Given the description of an element on the screen output the (x, y) to click on. 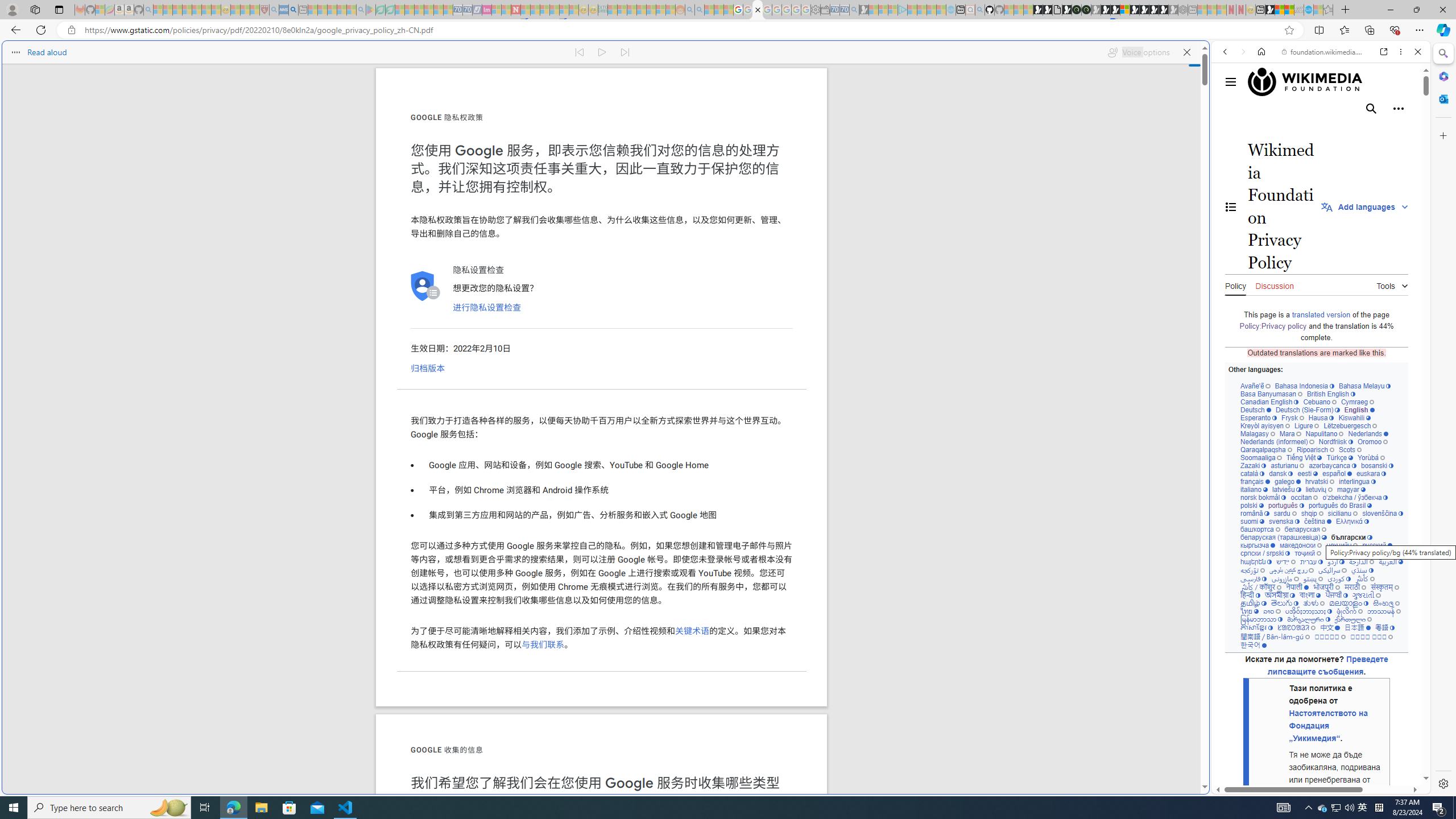
Bahasa Melayu (1364, 385)
Kiswahili (1354, 417)
Nordfriisk (1334, 441)
dansk (1280, 473)
